Given the description of an element on the screen output the (x, y) to click on. 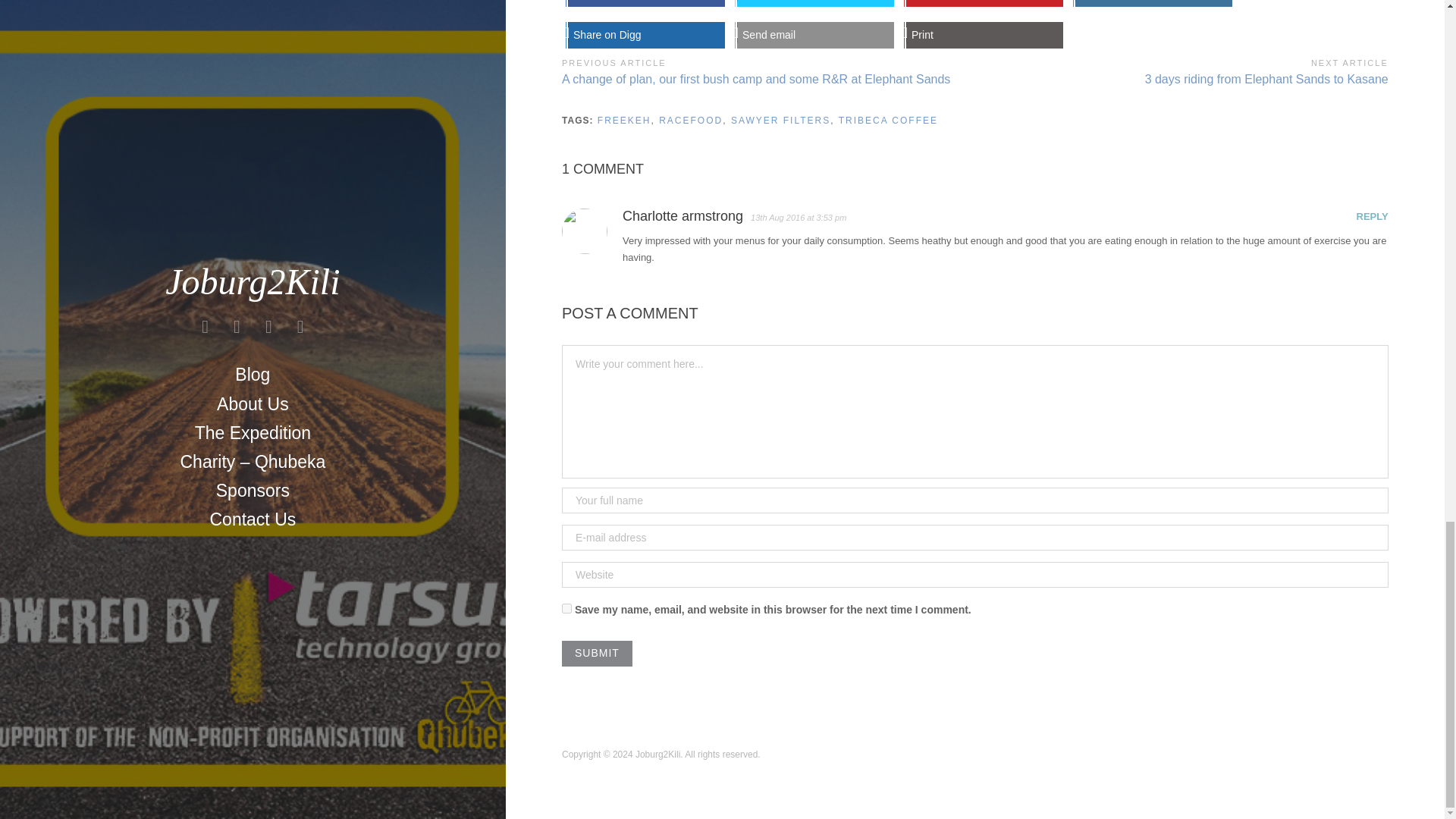
RACEFOOD (690, 120)
Share on Pinterest (983, 3)
Share on Facebook (646, 3)
Share on Pinterest (983, 3)
Share on Twitter (814, 3)
Share on Digg (646, 35)
Share on LinkedIn (1153, 3)
Submit (596, 653)
Share on LinkedIn (1153, 3)
Print (983, 35)
Share on Digg (646, 35)
TRIBECA COFFEE (887, 120)
yes (567, 608)
Print (983, 35)
